Given the description of an element on the screen output the (x, y) to click on. 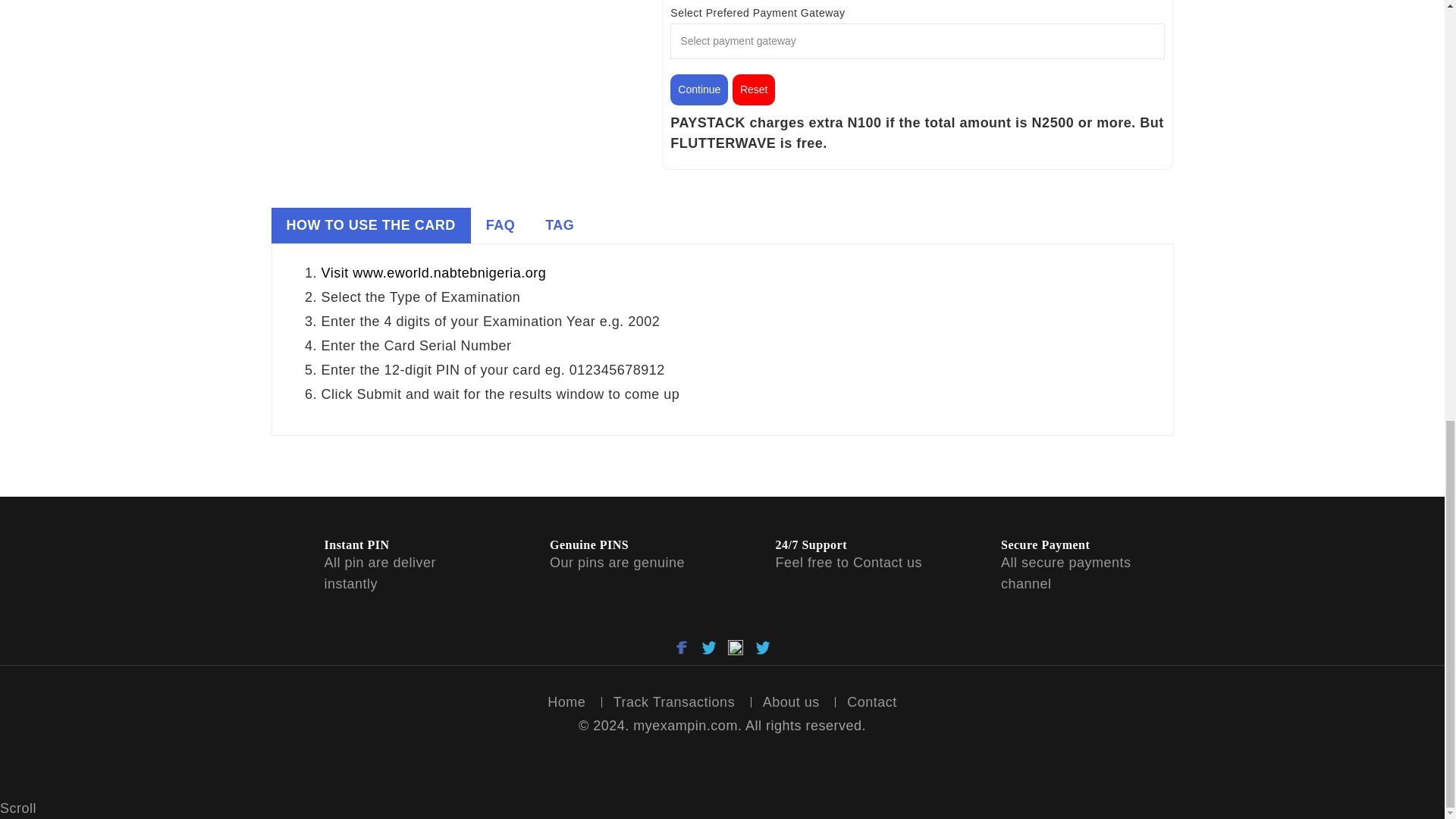
Continue (698, 89)
Contact (871, 702)
FAQ (500, 225)
TAG (559, 225)
Track Transactions (673, 702)
About us (790, 702)
HOW TO USE THE CARD (370, 225)
Reset (754, 89)
Continue (698, 89)
Home (566, 702)
